Given the description of an element on the screen output the (x, y) to click on. 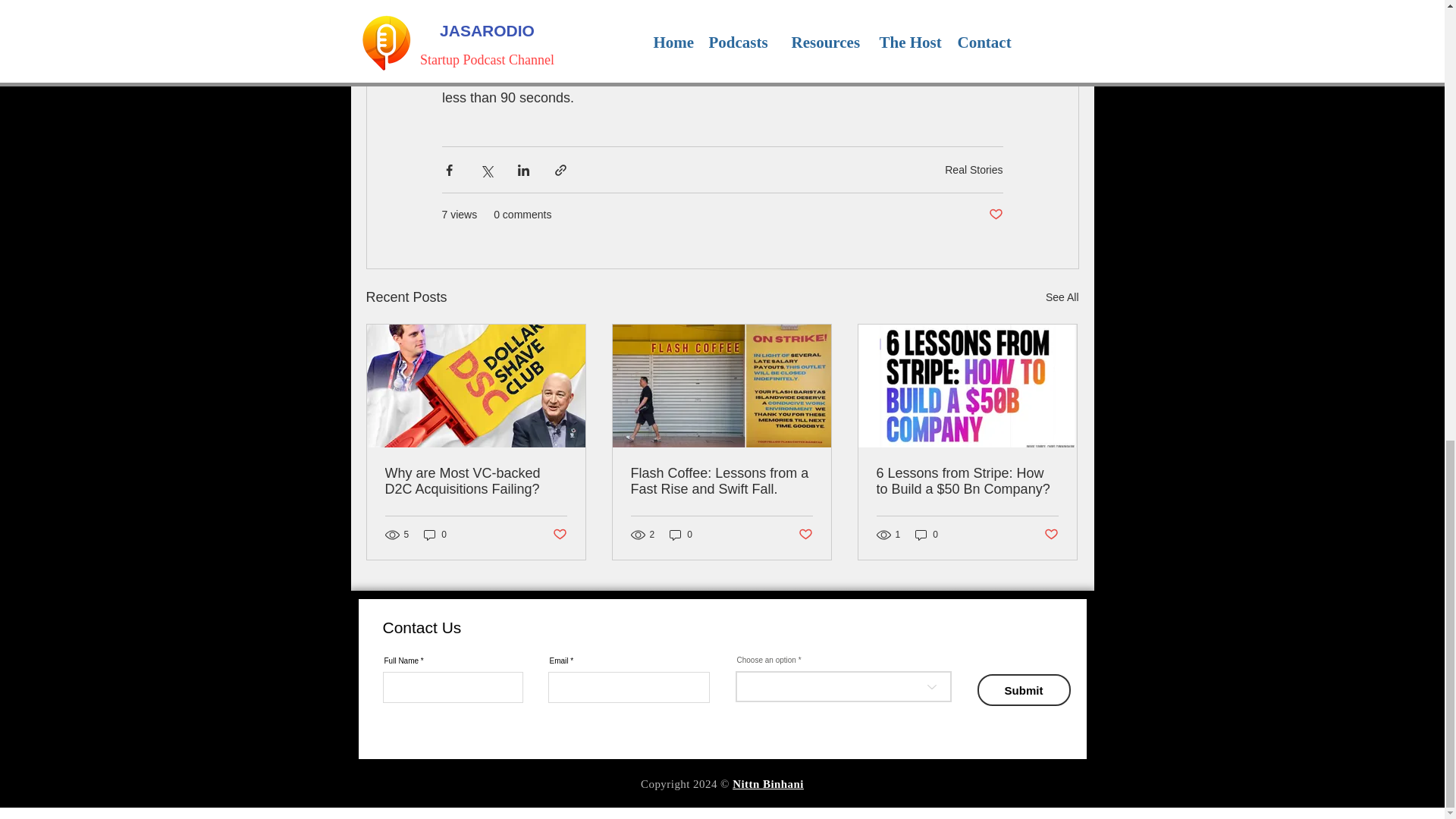
Post not marked as liked (558, 534)
0 (435, 534)
Real Stories (973, 168)
Post not marked as liked (995, 214)
0 (926, 534)
Post not marked as liked (804, 534)
See All (1061, 297)
Submit (1023, 689)
Why are Most VC-backed D2C Acquisitions Failing? (476, 481)
Post not marked as liked (1050, 534)
0 (681, 534)
Flash Coffee: Lessons from a Fast Rise and Swift Fall. (721, 481)
Nittn Binhani (767, 784)
